Given the description of an element on the screen output the (x, y) to click on. 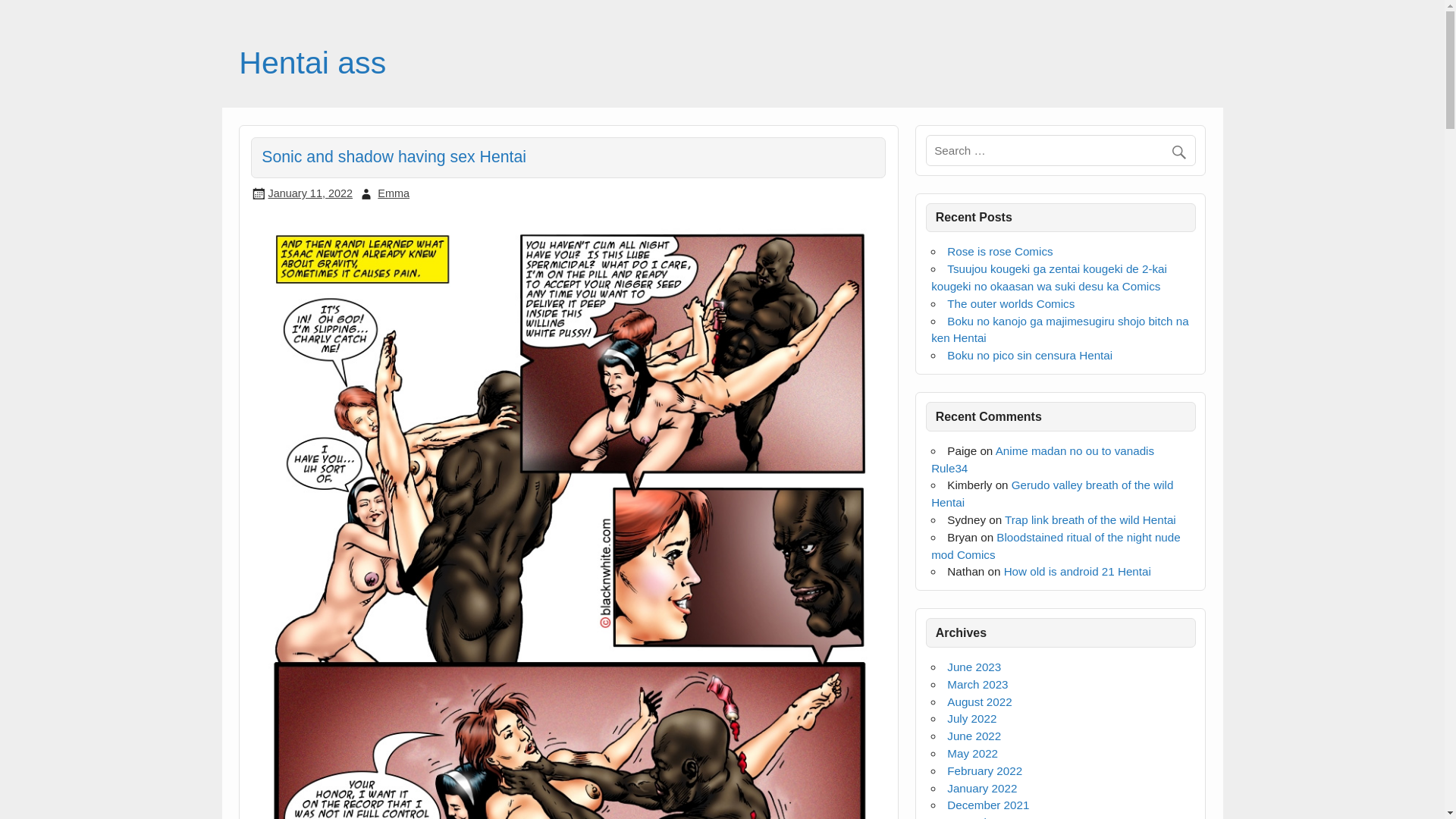
Gerudo valley breath of the wild Hentai (1052, 493)
January 11, 2022 (309, 193)
Anime madan no ou to vanadis Rule34 (1042, 459)
How old is android 21 Hentai (1077, 571)
Hentai ass (311, 62)
Boku no pico sin censura Hentai (1029, 354)
View all posts by Emma (393, 193)
Trap link breath of the wild Hentai (1090, 519)
March 2023 (977, 684)
